Given the description of an element on the screen output the (x, y) to click on. 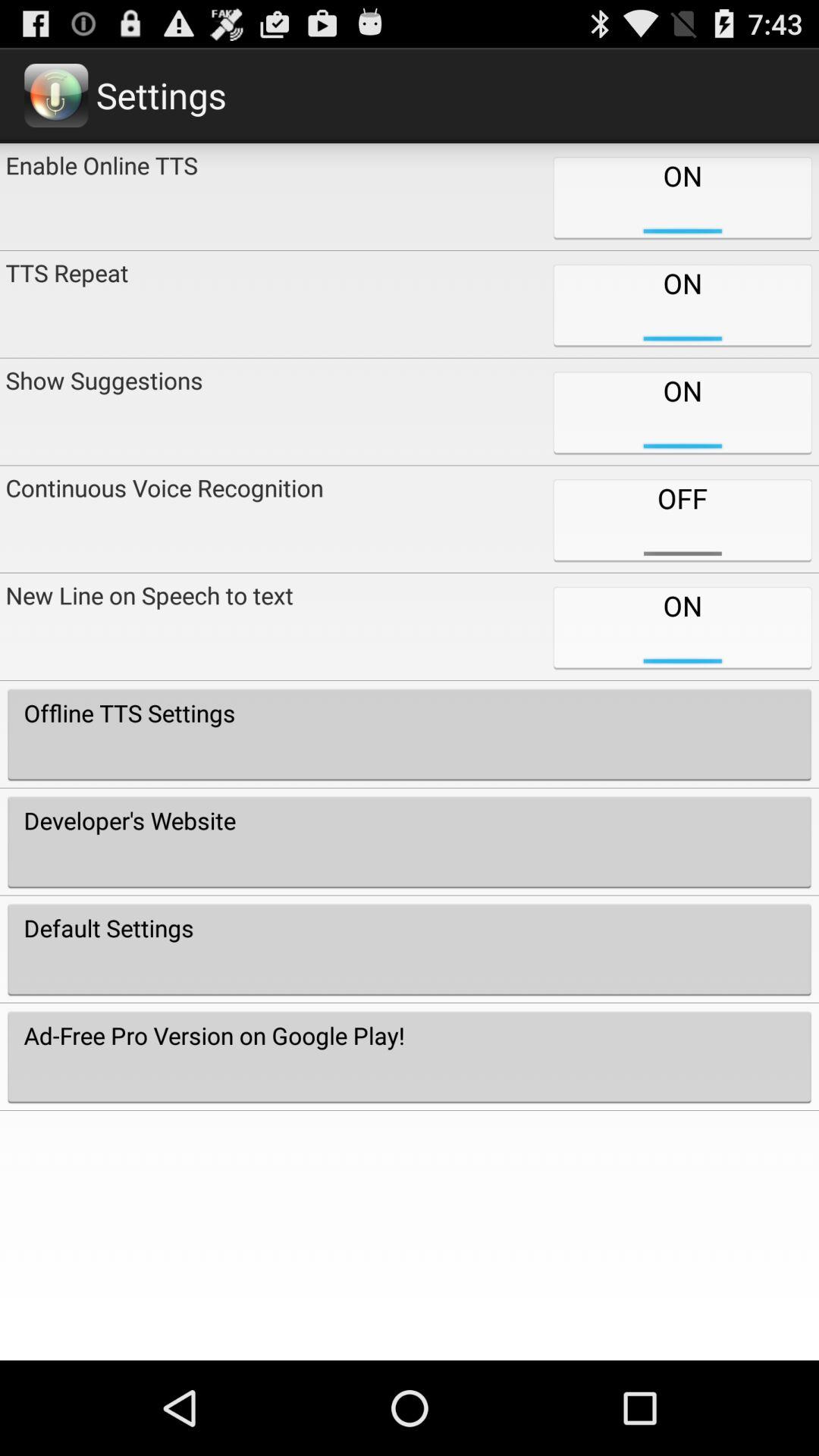
press the offline tts settings button (409, 734)
